Given the description of an element on the screen output the (x, y) to click on. 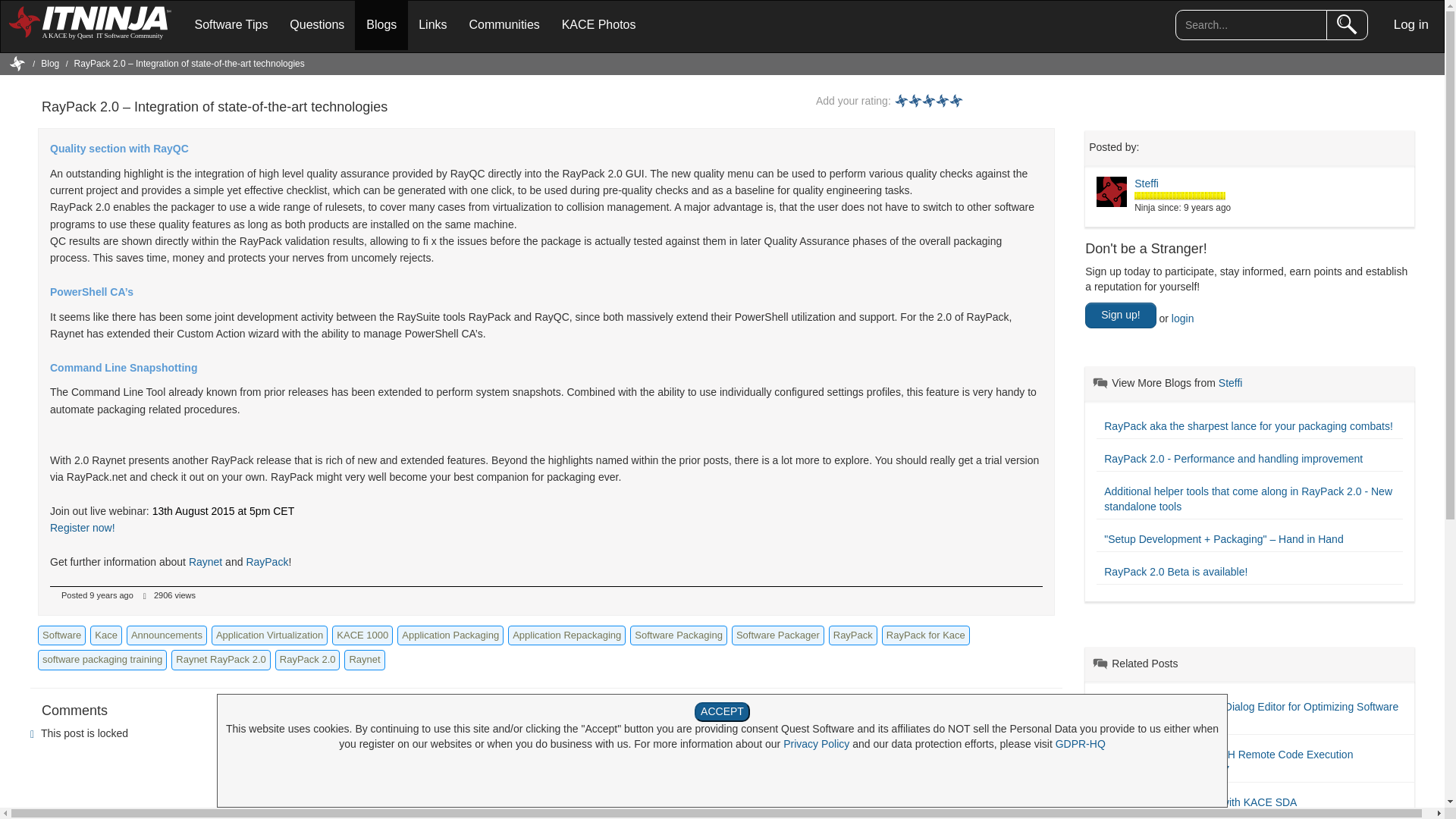
Announcements (166, 635)
Links (432, 24)
Blog (49, 63)
Application Virtualization (269, 635)
software packaging training (102, 660)
KACE Photos (598, 24)
Application Repackaging (567, 635)
RayPack (267, 562)
Software Packaging (678, 635)
Application Packaging (450, 635)
